Given the description of an element on the screen output the (x, y) to click on. 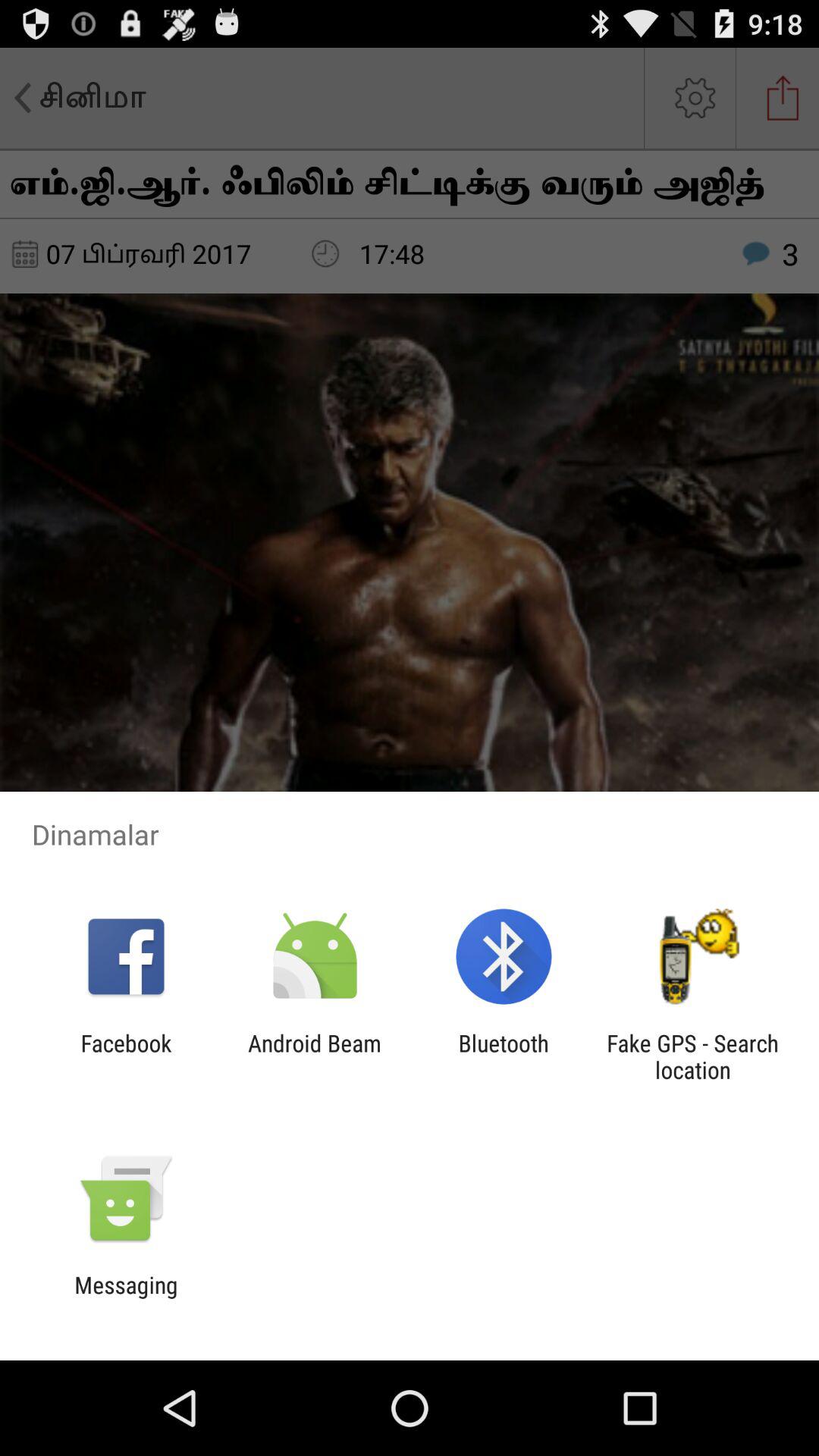
press the icon to the left of android beam item (125, 1056)
